Given the description of an element on the screen output the (x, y) to click on. 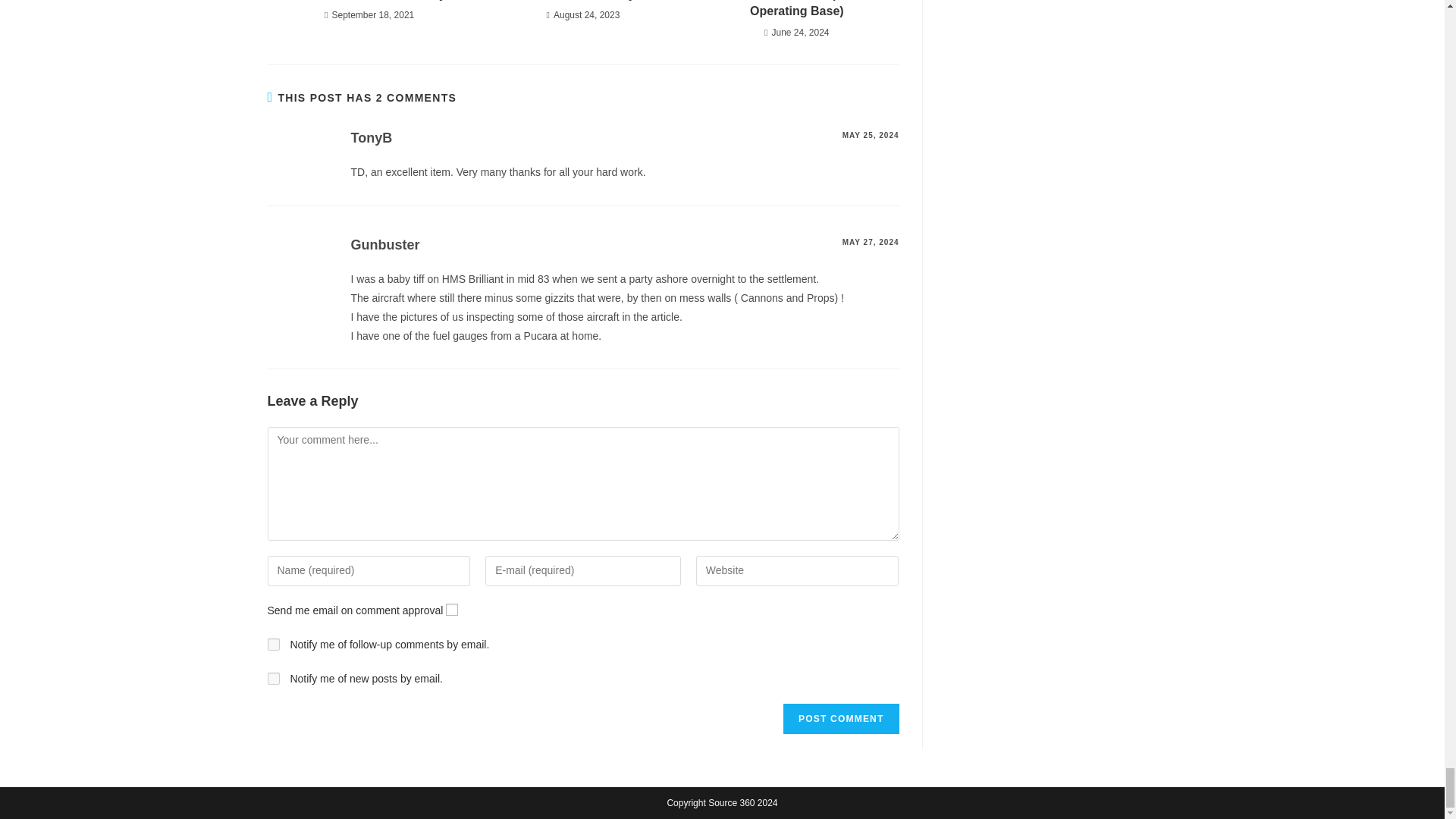
subscribe (272, 644)
Post Comment (840, 718)
1 (451, 609)
subscribe (272, 678)
